Given the description of an element on the screen output the (x, y) to click on. 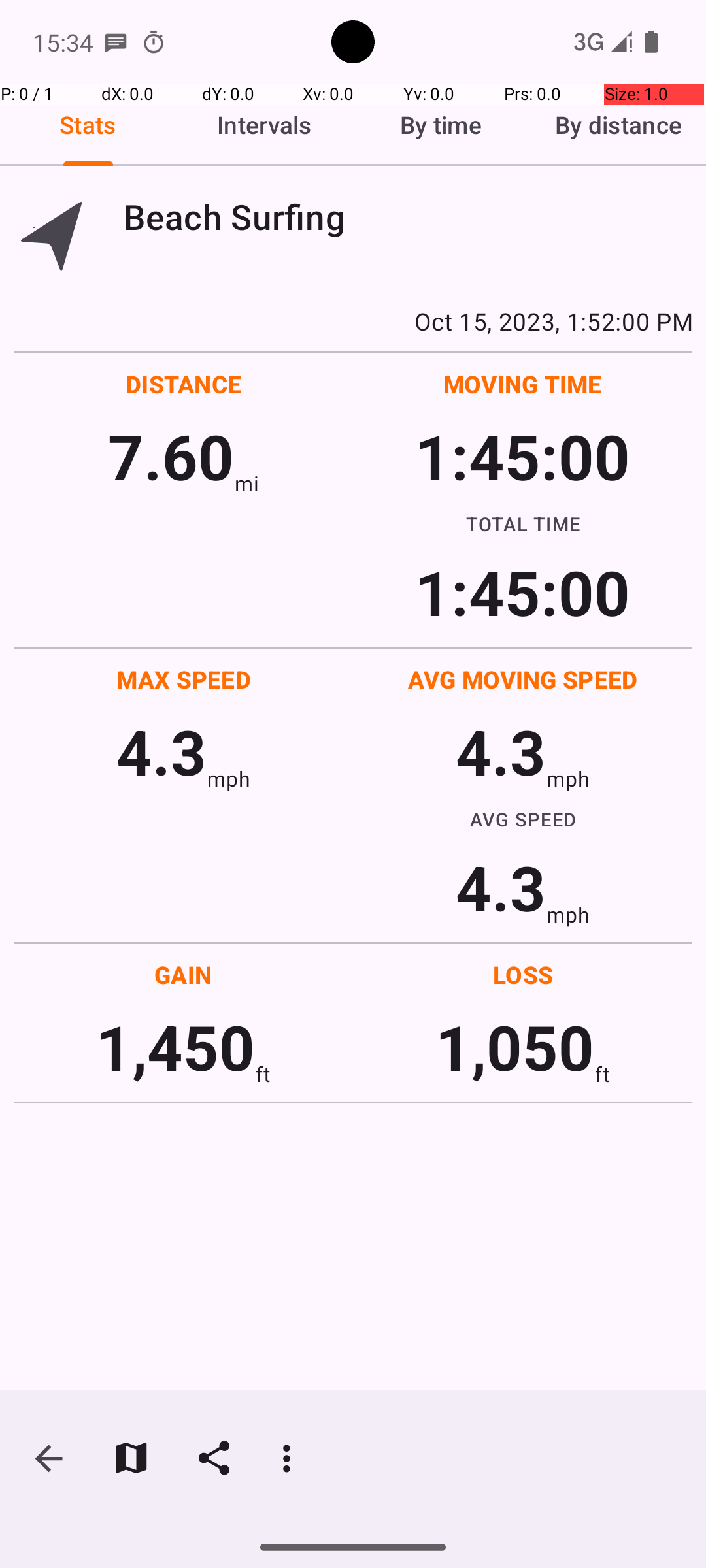
Beach Surfing Element type: android.widget.TextView (407, 216)
Oct 15, 2023, 1:52:00 PM Element type: android.widget.TextView (352, 320)
7.60 Element type: android.widget.TextView (170, 455)
1:45:00 Element type: android.widget.TextView (522, 455)
4.3 Element type: android.widget.TextView (161, 750)
1,450 Element type: android.widget.TextView (175, 1045)
1,050 Element type: android.widget.TextView (514, 1045)
